Given the description of an element on the screen output the (x, y) to click on. 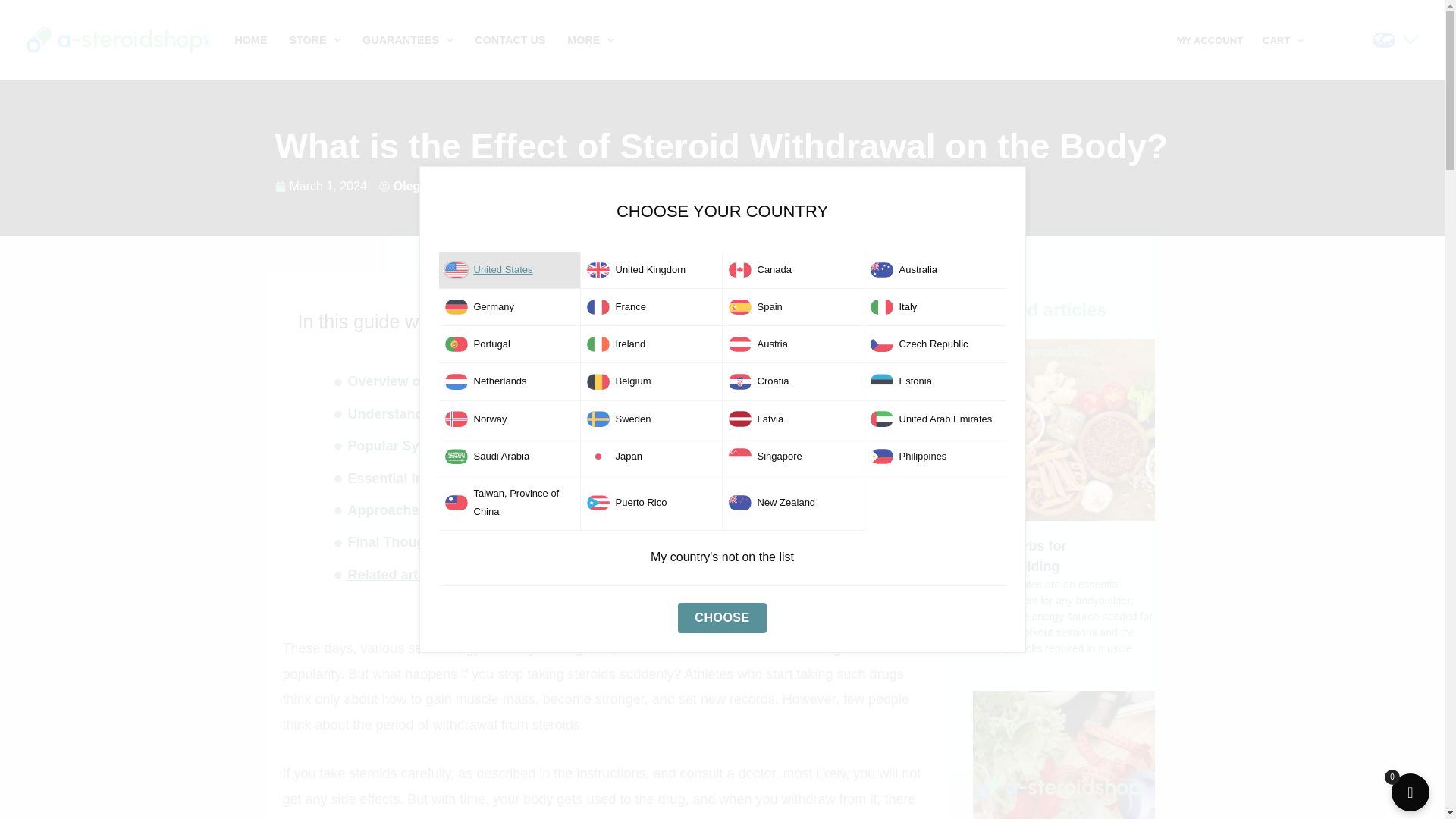
English (721, 617)
STORE (315, 39)
HOME (251, 39)
